Given the description of an element on the screen output the (x, y) to click on. 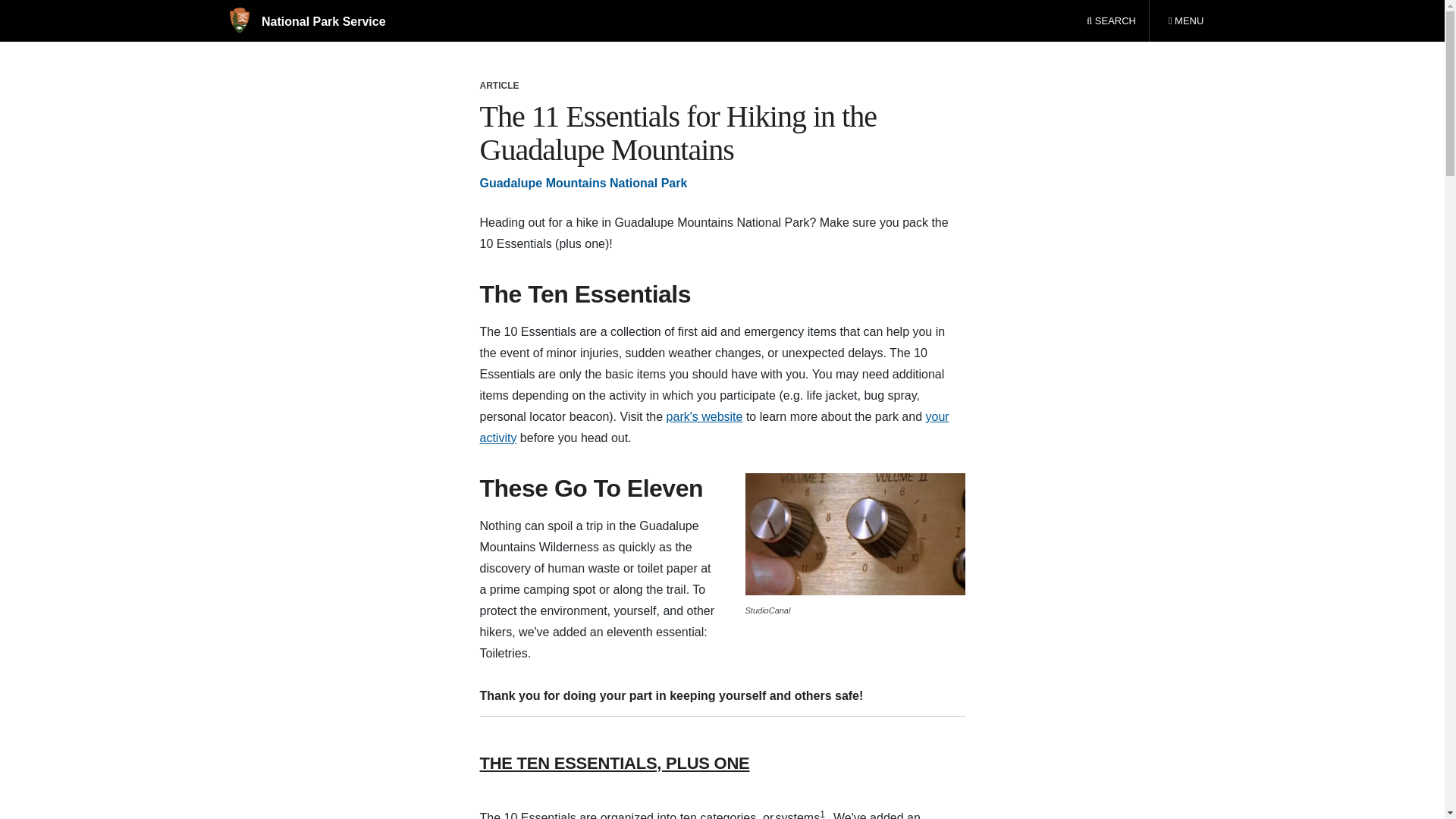
National Park Service (1185, 20)
your activity (307, 20)
These go to eleven (714, 427)
park's website (853, 534)
Guadalupe Mountains National Park (704, 416)
SEARCH (583, 182)
